Given the description of an element on the screen output the (x, y) to click on. 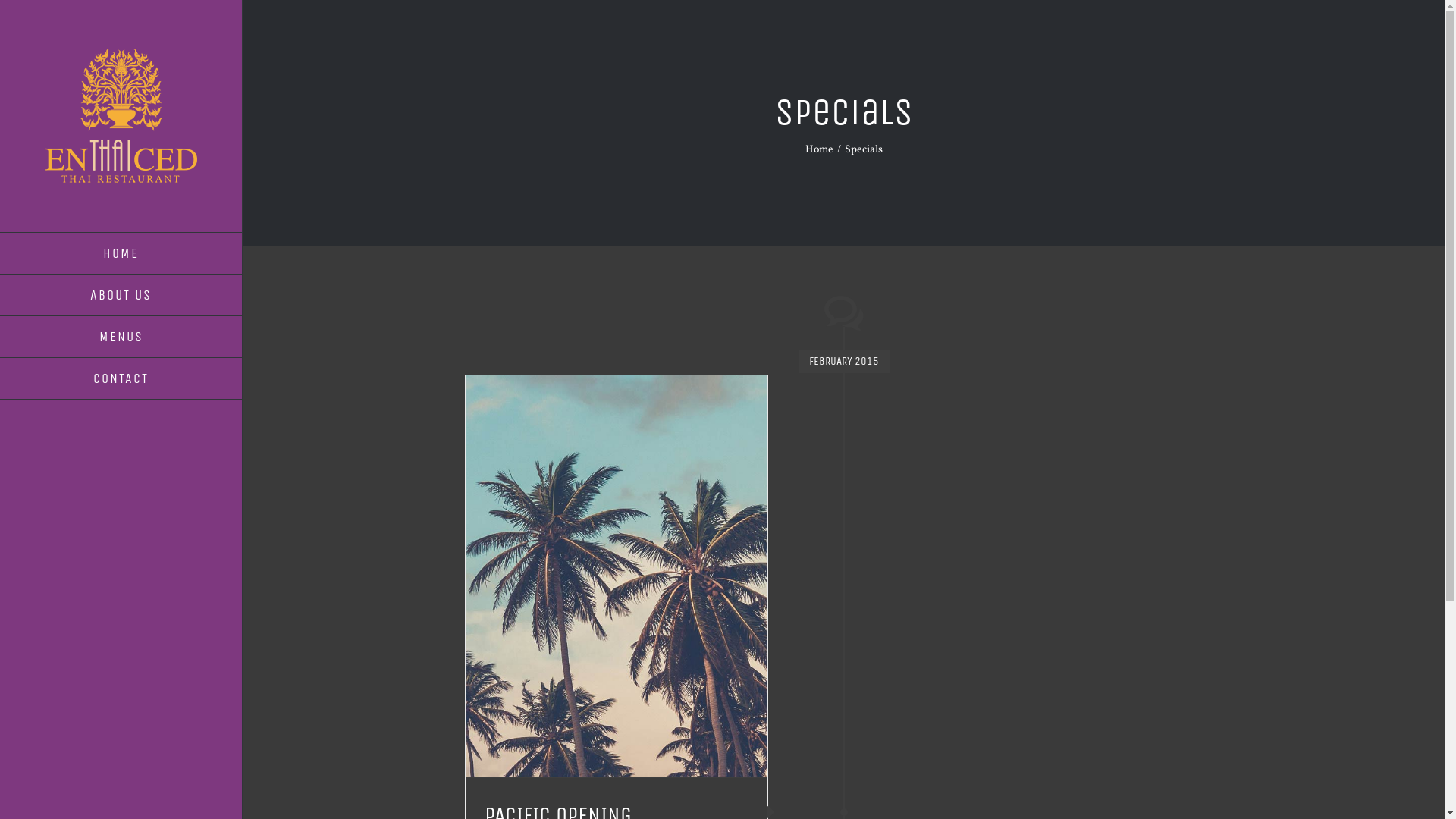
Home Element type: text (819, 149)
CONTACT Element type: text (120, 378)
ABOUT US Element type: text (120, 295)
MENUS Element type: text (120, 336)
HOME Element type: text (120, 253)
